Given the description of an element on the screen output the (x, y) to click on. 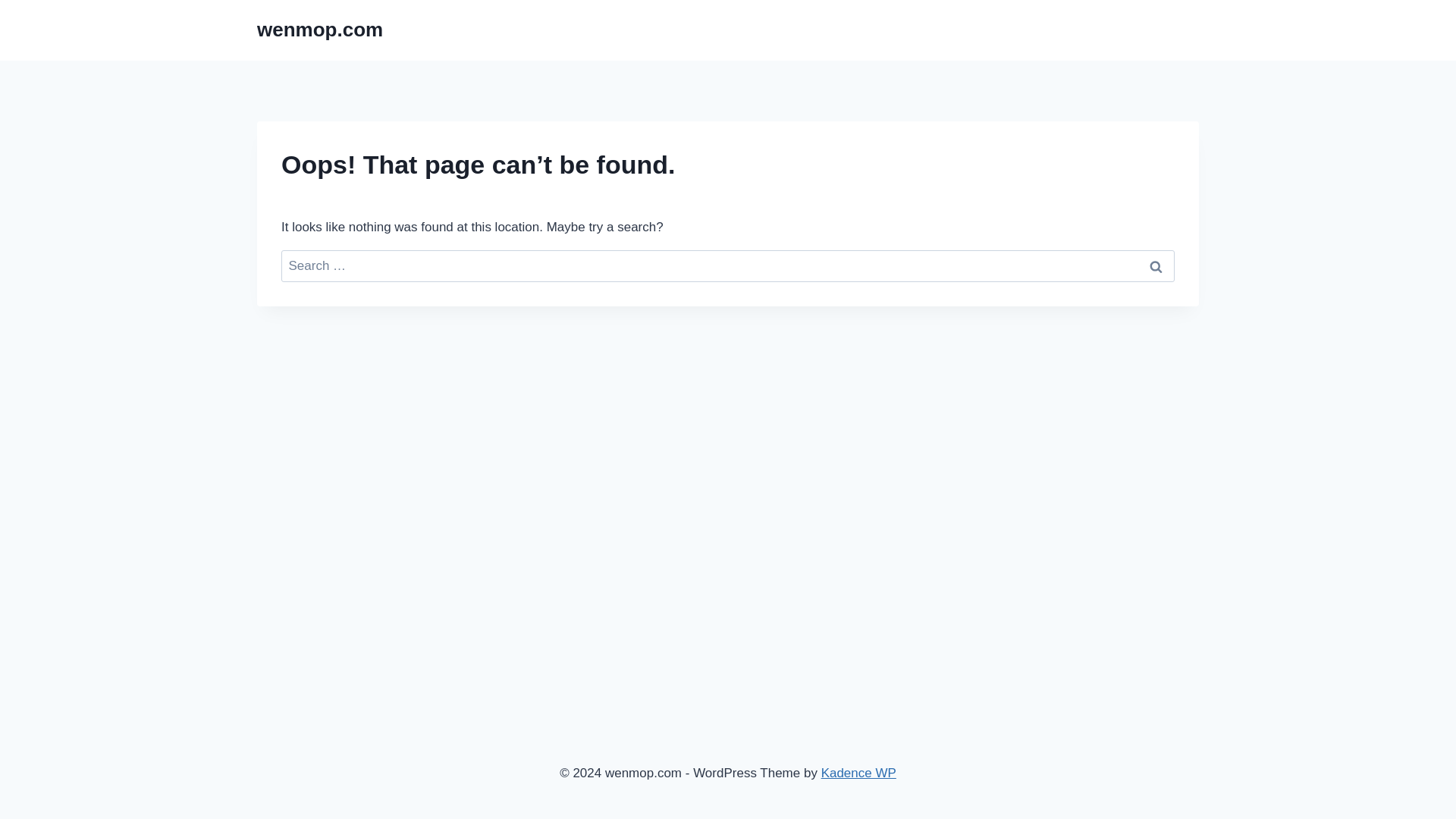
wenmop.com (319, 29)
Search (1155, 266)
Search (1155, 266)
Kadence WP (858, 772)
Search (1155, 266)
